Given the description of an element on the screen output the (x, y) to click on. 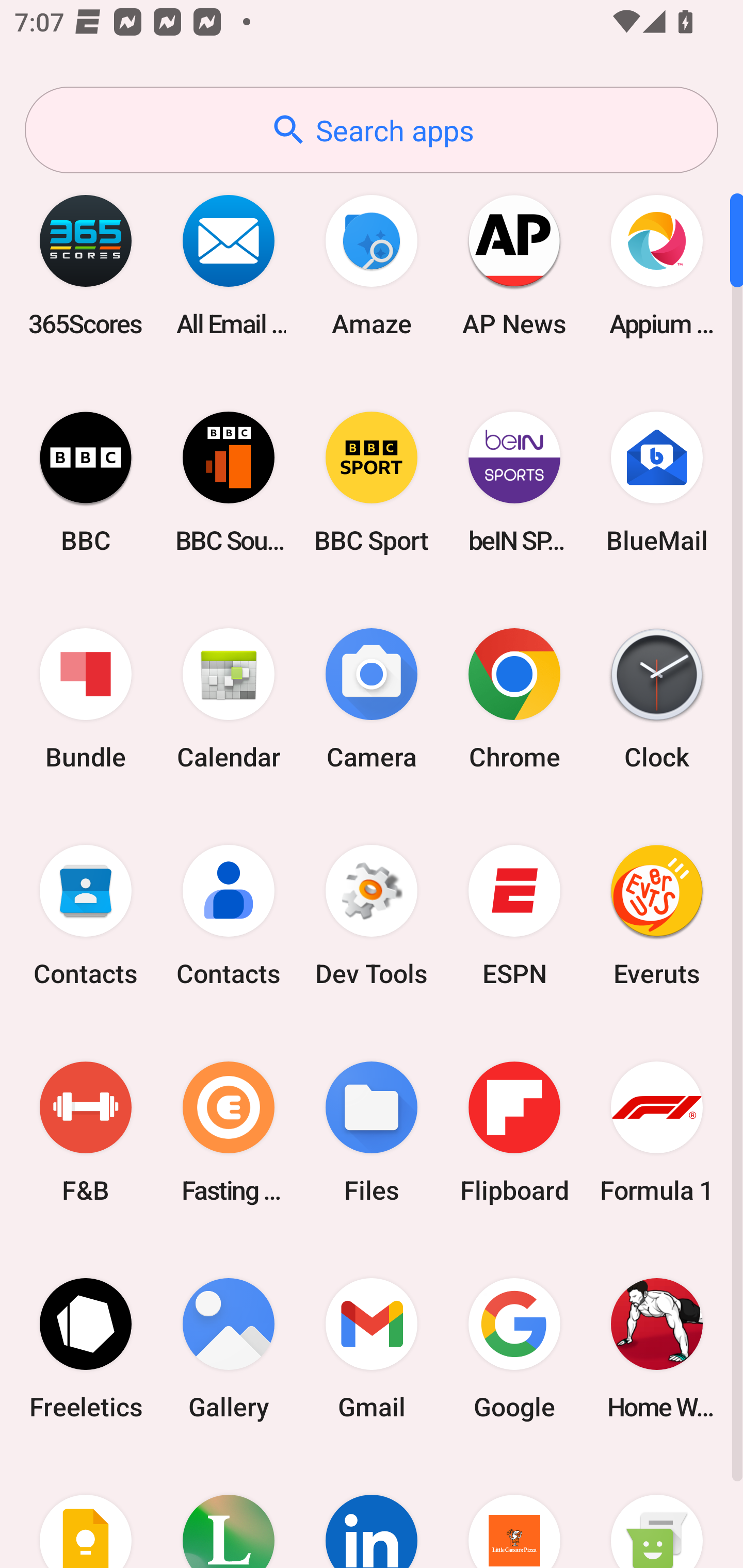
  Search apps (371, 130)
365Scores (85, 264)
All Email Connect (228, 264)
Amaze (371, 264)
AP News (514, 264)
Appium Settings (656, 264)
BBC (85, 482)
BBC Sounds (228, 482)
BBC Sport (371, 482)
beIN SPORTS (514, 482)
BlueMail (656, 482)
Bundle (85, 699)
Calendar (228, 699)
Camera (371, 699)
Chrome (514, 699)
Clock (656, 699)
Contacts (85, 915)
Contacts (228, 915)
Dev Tools (371, 915)
ESPN (514, 915)
Everuts (656, 915)
F&B (85, 1131)
Fasting Coach (228, 1131)
Files (371, 1131)
Flipboard (514, 1131)
Formula 1 (656, 1131)
Freeletics (85, 1348)
Gallery (228, 1348)
Gmail (371, 1348)
Google (514, 1348)
Home Workout (656, 1348)
